Given the description of an element on the screen output the (x, y) to click on. 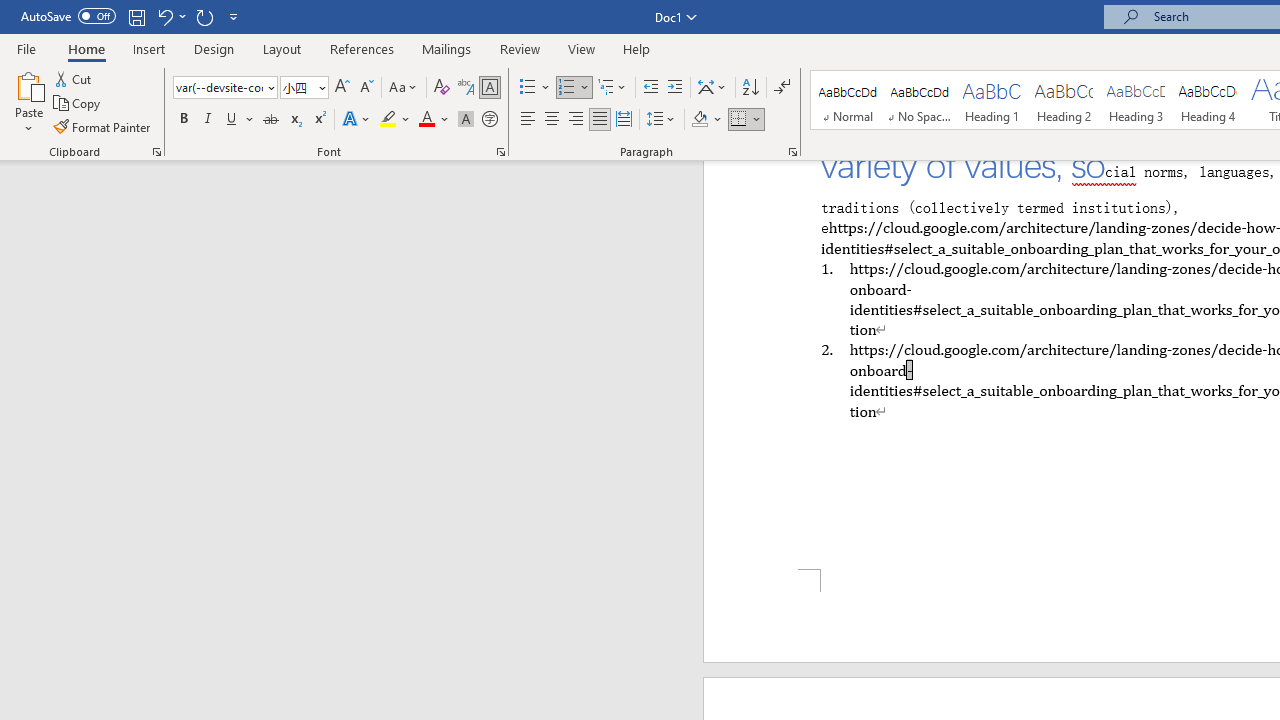
Font... (500, 151)
Borders (739, 119)
Heading 4 (1208, 100)
Underline (239, 119)
Justify (599, 119)
Multilevel List (613, 87)
Insert (149, 48)
Paste (28, 84)
Text Highlight Color (395, 119)
Asian Layout (712, 87)
Home (86, 48)
Heading 2 (1063, 100)
Strikethrough (270, 119)
References (362, 48)
Distributed (623, 119)
